Given the description of an element on the screen output the (x, y) to click on. 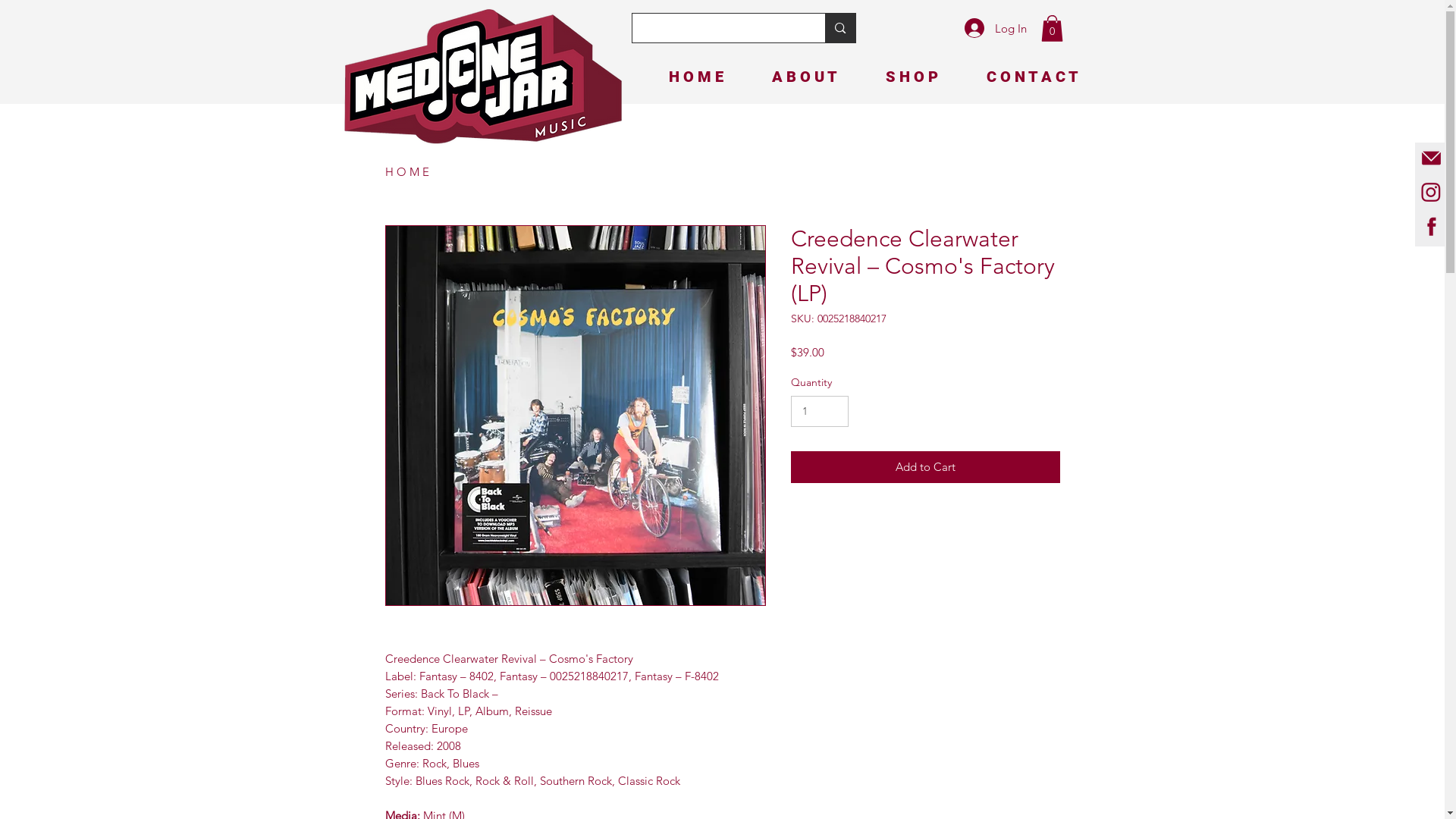
C O N T A C T Element type: text (1019, 76)
A B O U T Element type: text (790, 76)
0 Element type: text (1051, 28)
H O M E Element type: text (682, 76)
H O M E Element type: text (407, 171)
Add to Cart Element type: text (924, 467)
Log In Element type: text (995, 27)
